Given the description of an element on the screen output the (x, y) to click on. 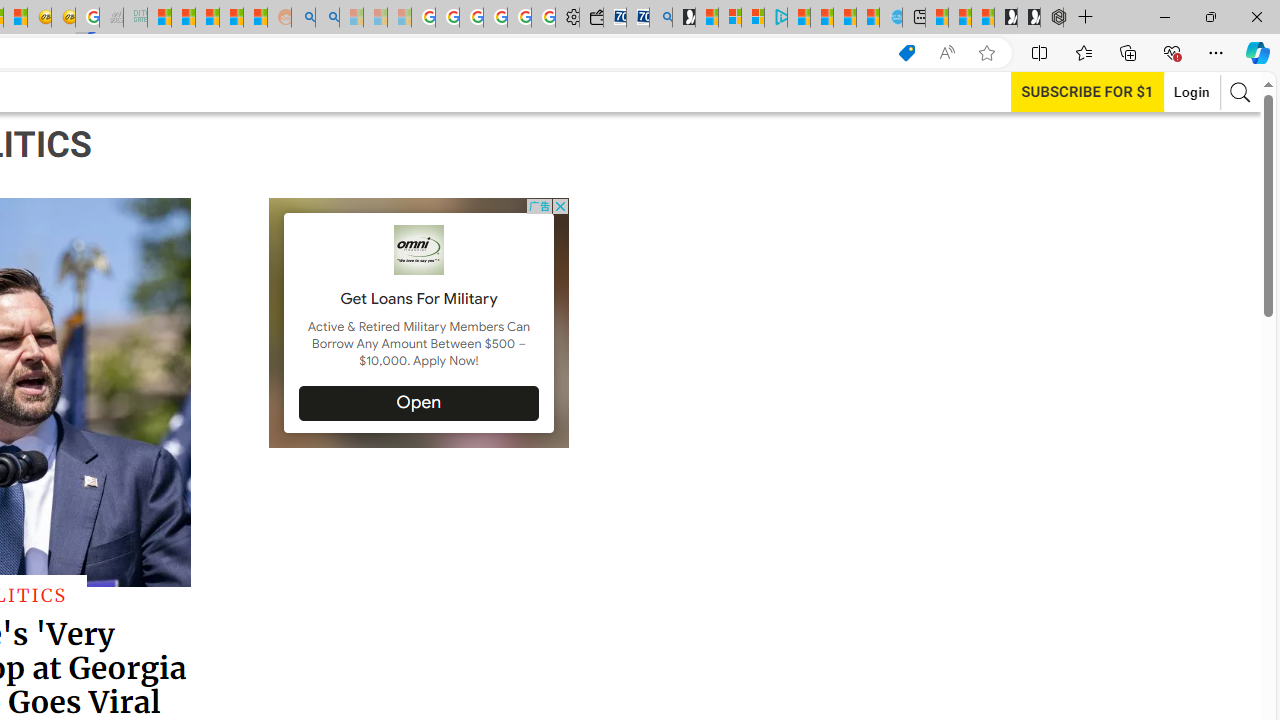
AutomationID: search-btn (1240, 92)
Bing Real Estate - Home sales and rental listings (660, 17)
